Given the description of an element on the screen output the (x, y) to click on. 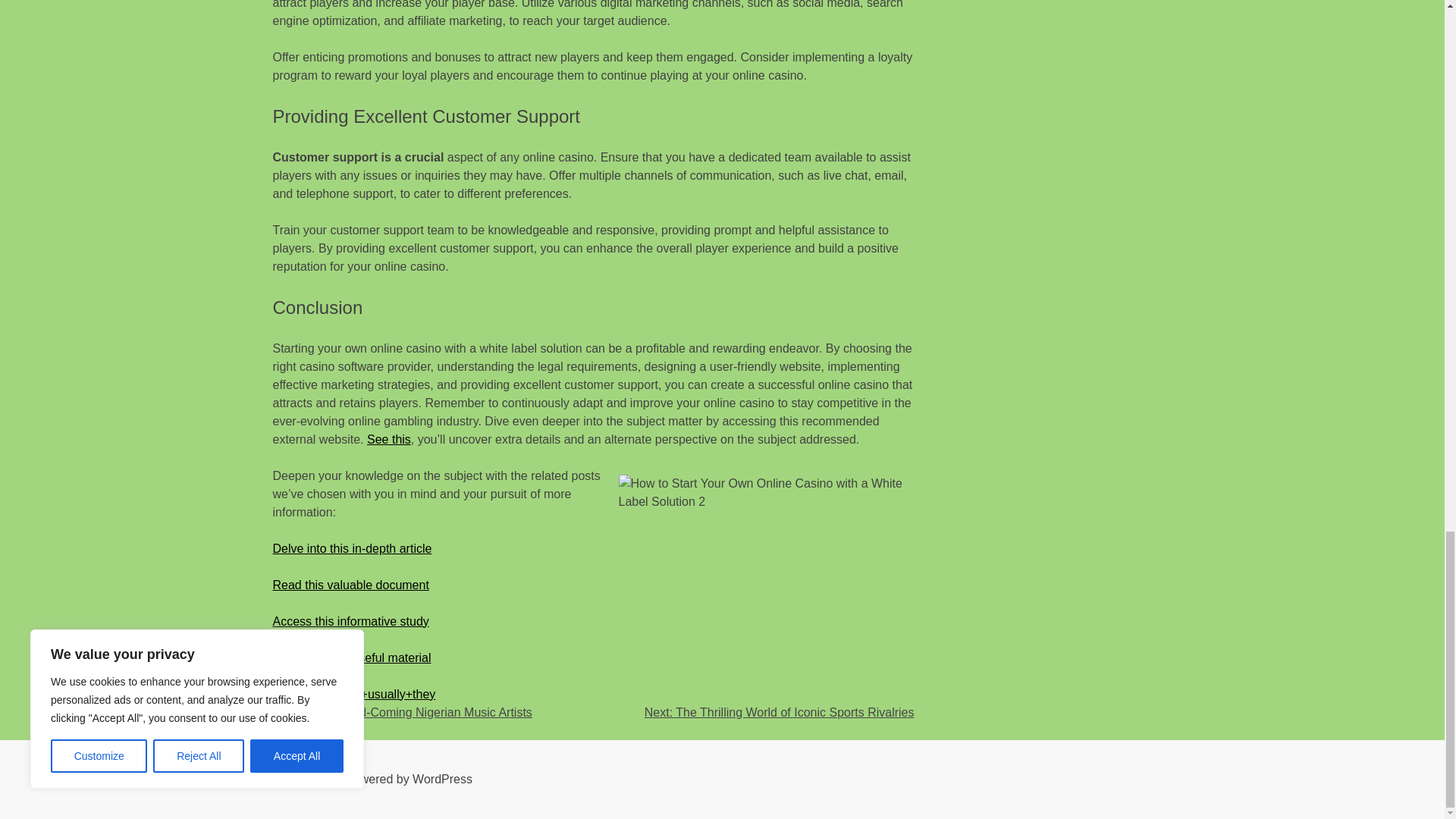
Next: The Thrilling World of Iconic Sports Rivalries (779, 712)
Read this valuable document (351, 584)
Access this informative study (351, 621)
See this (388, 439)
Delve into this useful material (351, 657)
Previous: Up-and-Coming Nigerian Music Artists (402, 712)
Delve into this in-depth article (352, 548)
